Given the description of an element on the screen output the (x, y) to click on. 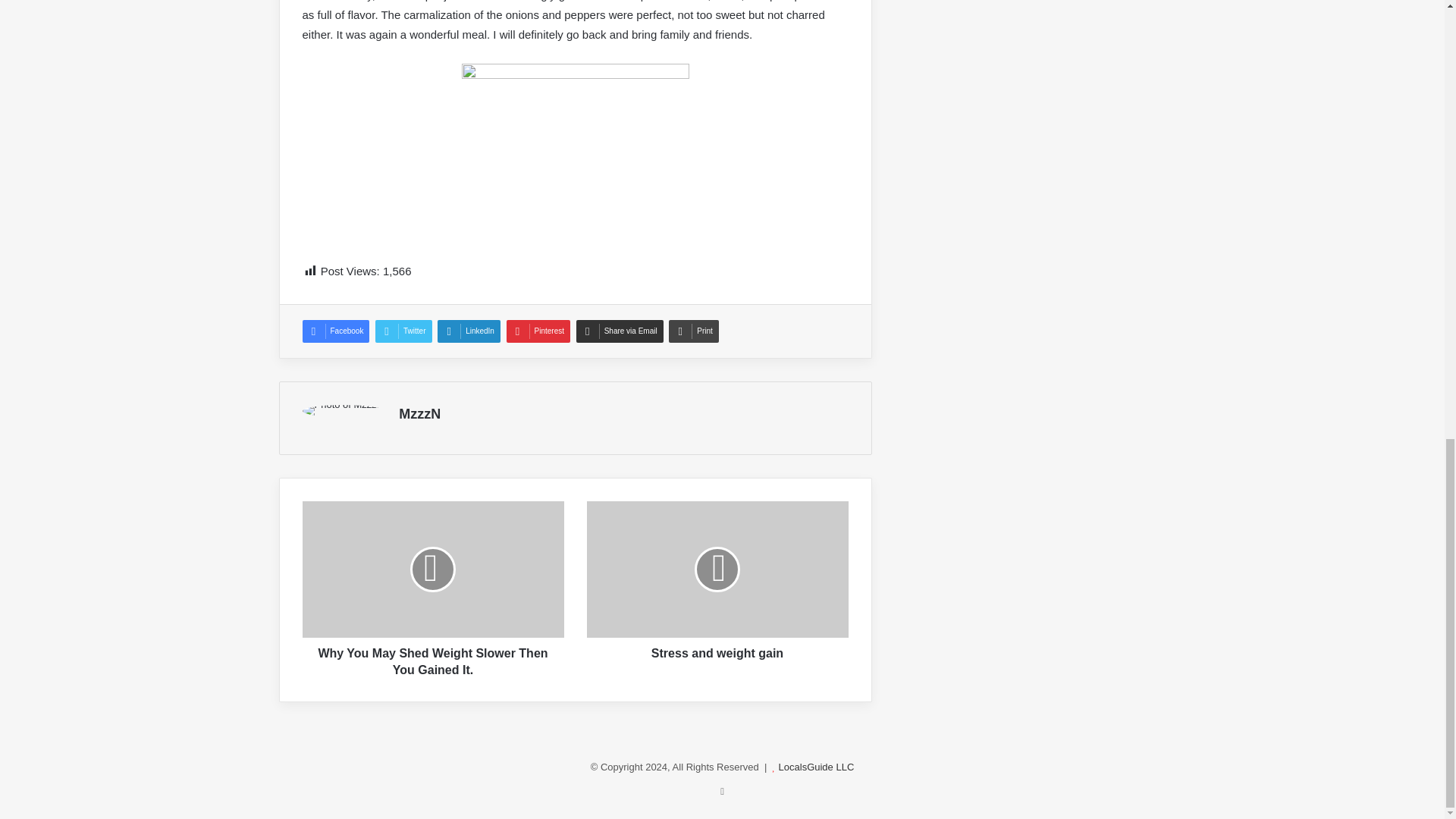
Twitter (402, 331)
LinkedIn (469, 331)
Stress and weight gain (717, 649)
Share via Email (619, 331)
Print (693, 331)
mexican (574, 152)
LinkedIn (469, 331)
Pinterest (538, 331)
Why You May Shed Weight Slower Then You Gained It. (432, 658)
Facebook (335, 331)
Twitter (402, 331)
MzzzN (419, 413)
Facebook (335, 331)
Share via Email (619, 331)
Print (693, 331)
